Given the description of an element on the screen output the (x, y) to click on. 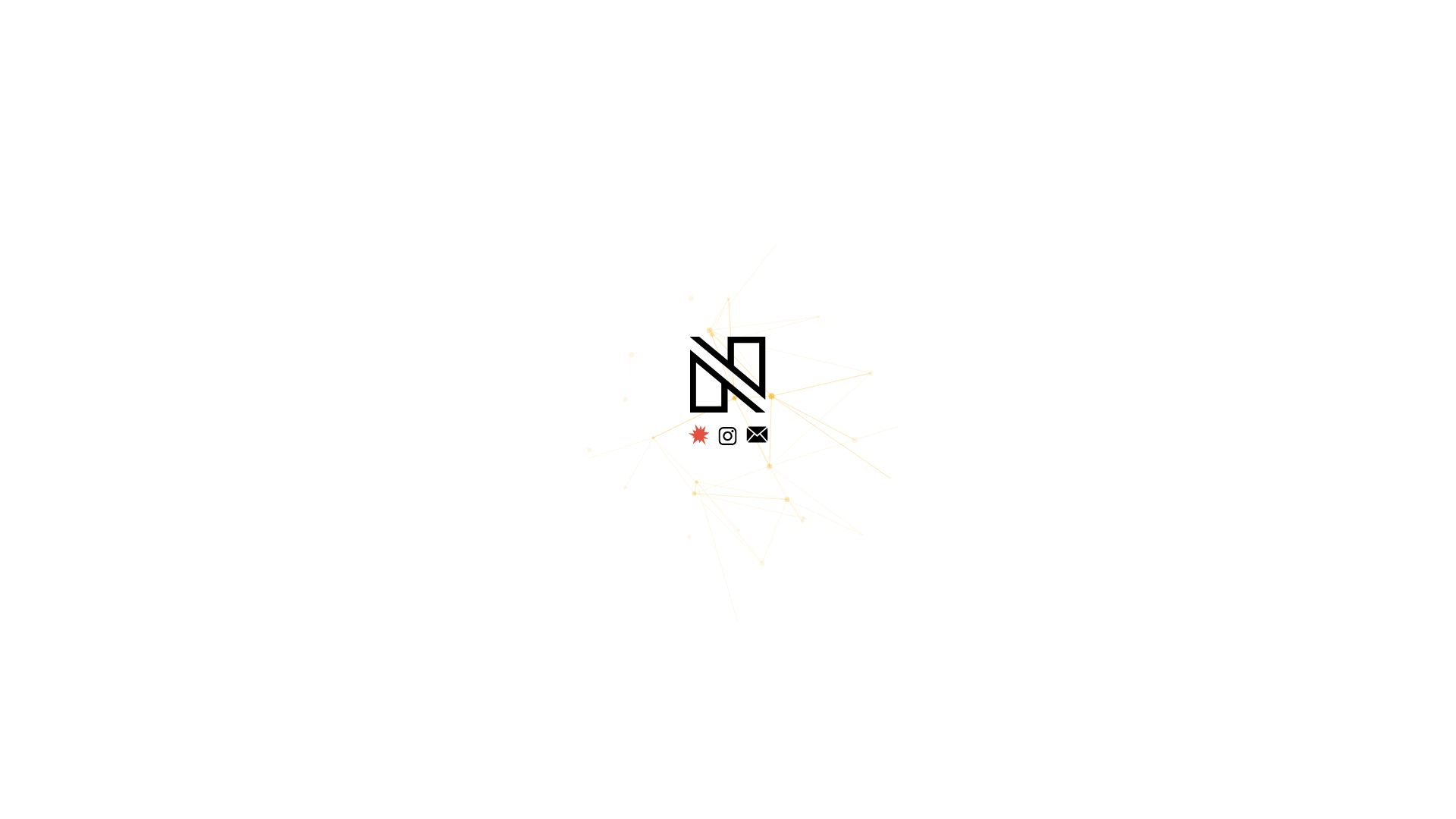
Boom theme Element type: hover (700, 440)
